Given the description of an element on the screen output the (x, y) to click on. 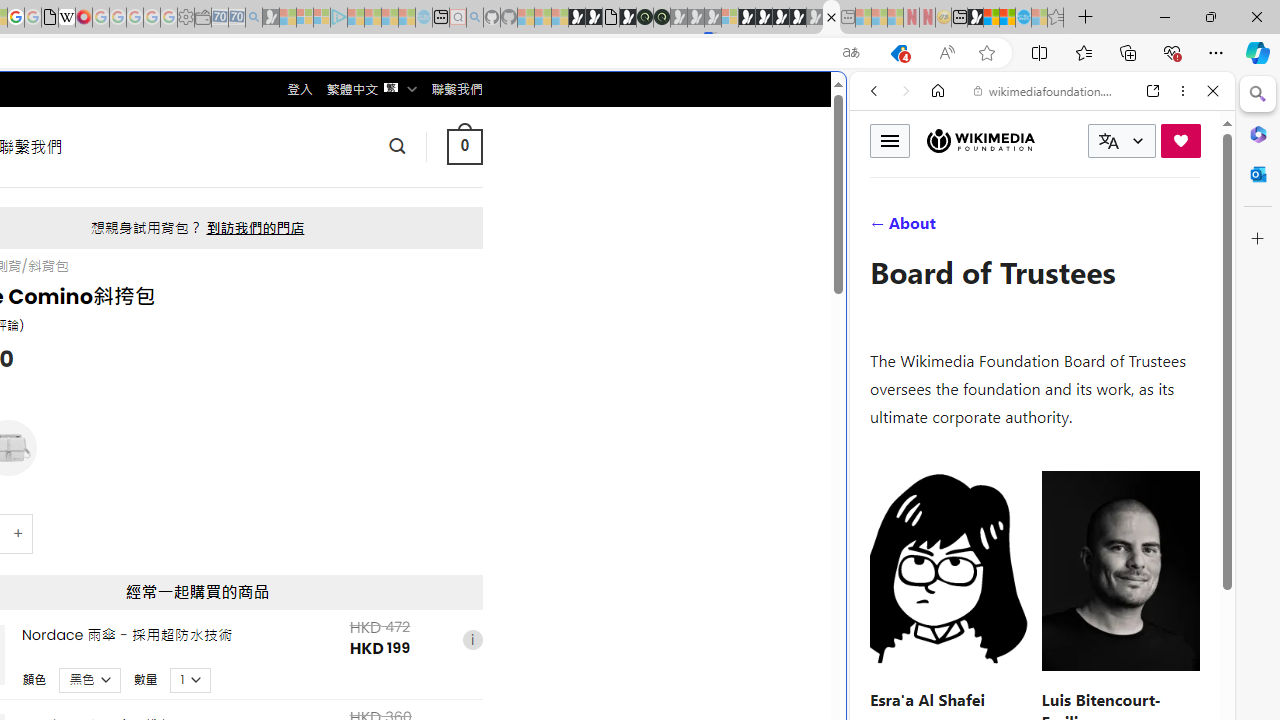
Frequently visited (418, 265)
 0  (464, 146)
Class: i icon icon-translate language-switcher__icon (1108, 141)
